Given the description of an element on the screen output the (x, y) to click on. 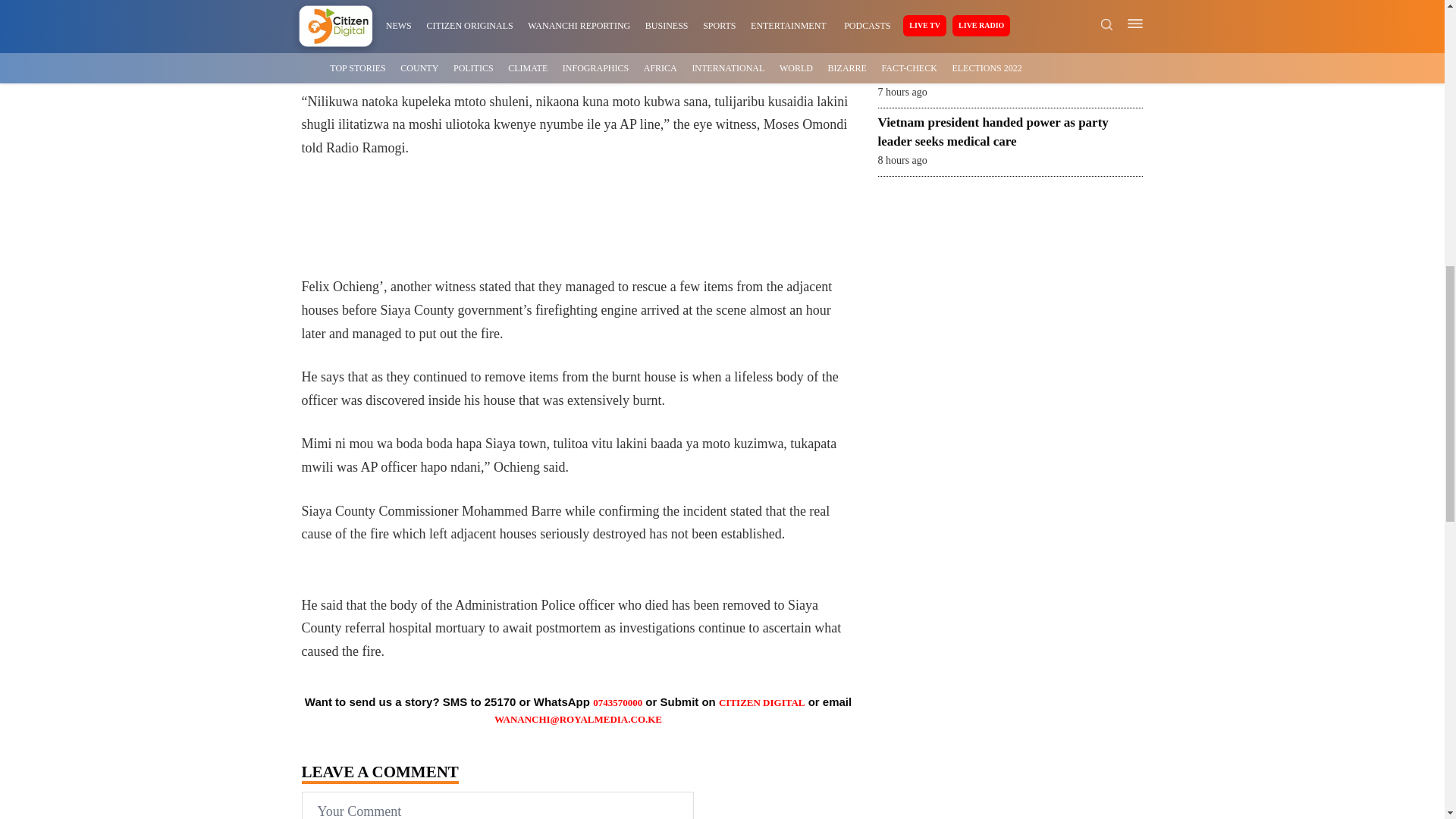
3rd party ad content (591, 227)
0743570000 (617, 702)
CITIZEN DIGITAL (762, 702)
